Given the description of an element on the screen output the (x, y) to click on. 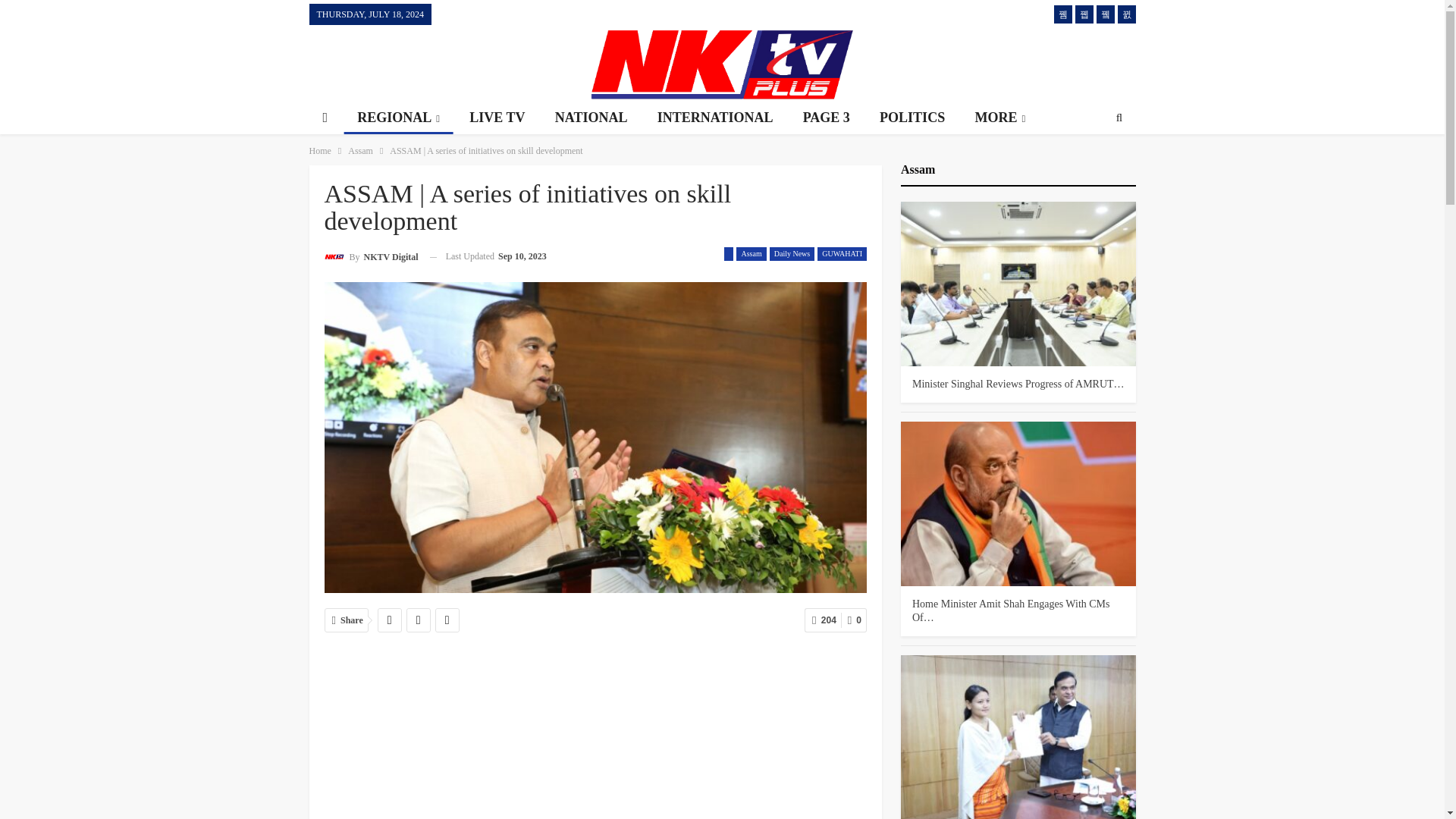
LIVE TV (496, 117)
REGIONAL (397, 117)
Advertisement (1008, 61)
INTERNATIONAL (715, 117)
Advertisement (595, 733)
Advertisement (445, 61)
MORE (999, 117)
Browse Author Articles (371, 256)
Contact Us (462, 14)
POLITICS (912, 117)
PAGE 3 (826, 117)
NATIONAL (591, 117)
Home (319, 150)
Assam (359, 150)
